Given the description of an element on the screen output the (x, y) to click on. 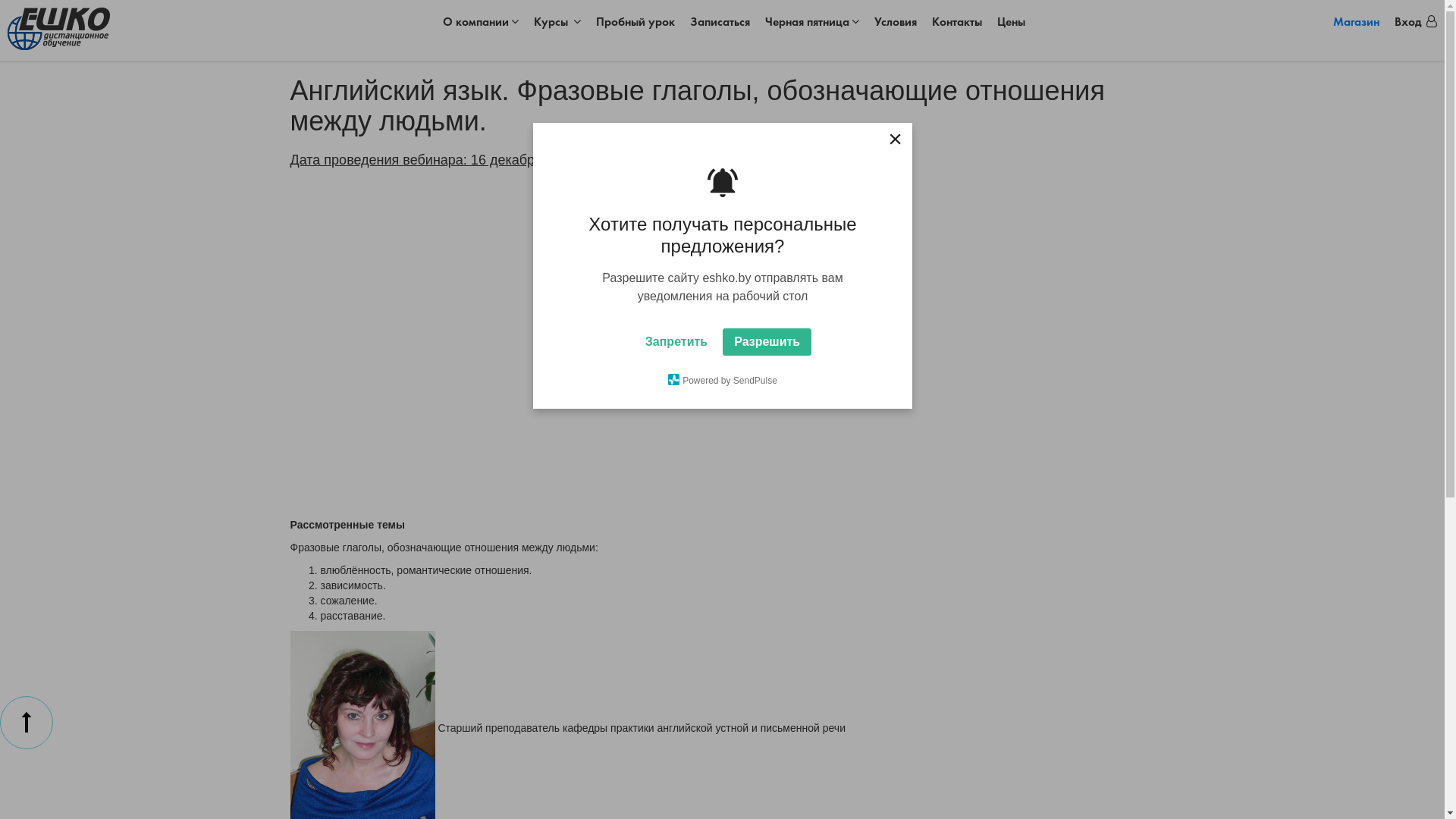
Powered by SendPulse Element type: text (776, 272)
